Given the description of an element on the screen output the (x, y) to click on. 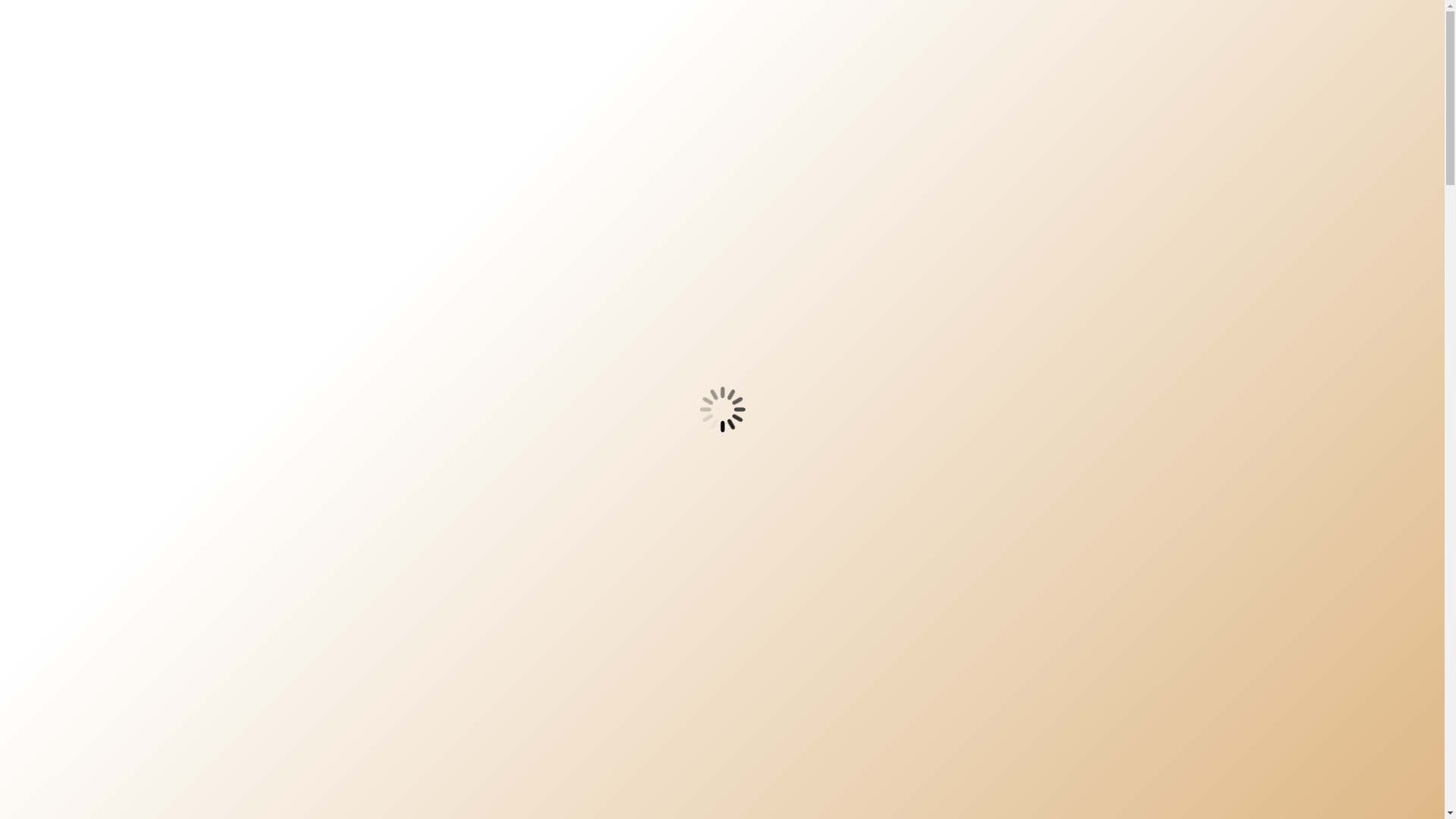
Home (357, 295)
Email (1130, 35)
Magazine (438, 295)
Go! (1125, 429)
Farmers Market (740, 295)
Facebook page opens in new window (988, 35)
Members (533, 295)
Ethics (514, 324)
Writers Artists Night (906, 295)
Art Walk (624, 295)
Facebook page opens in new window (988, 35)
StateoftheOzarks Fest (381, 324)
Go! (1125, 429)
